Given the description of an element on the screen output the (x, y) to click on. 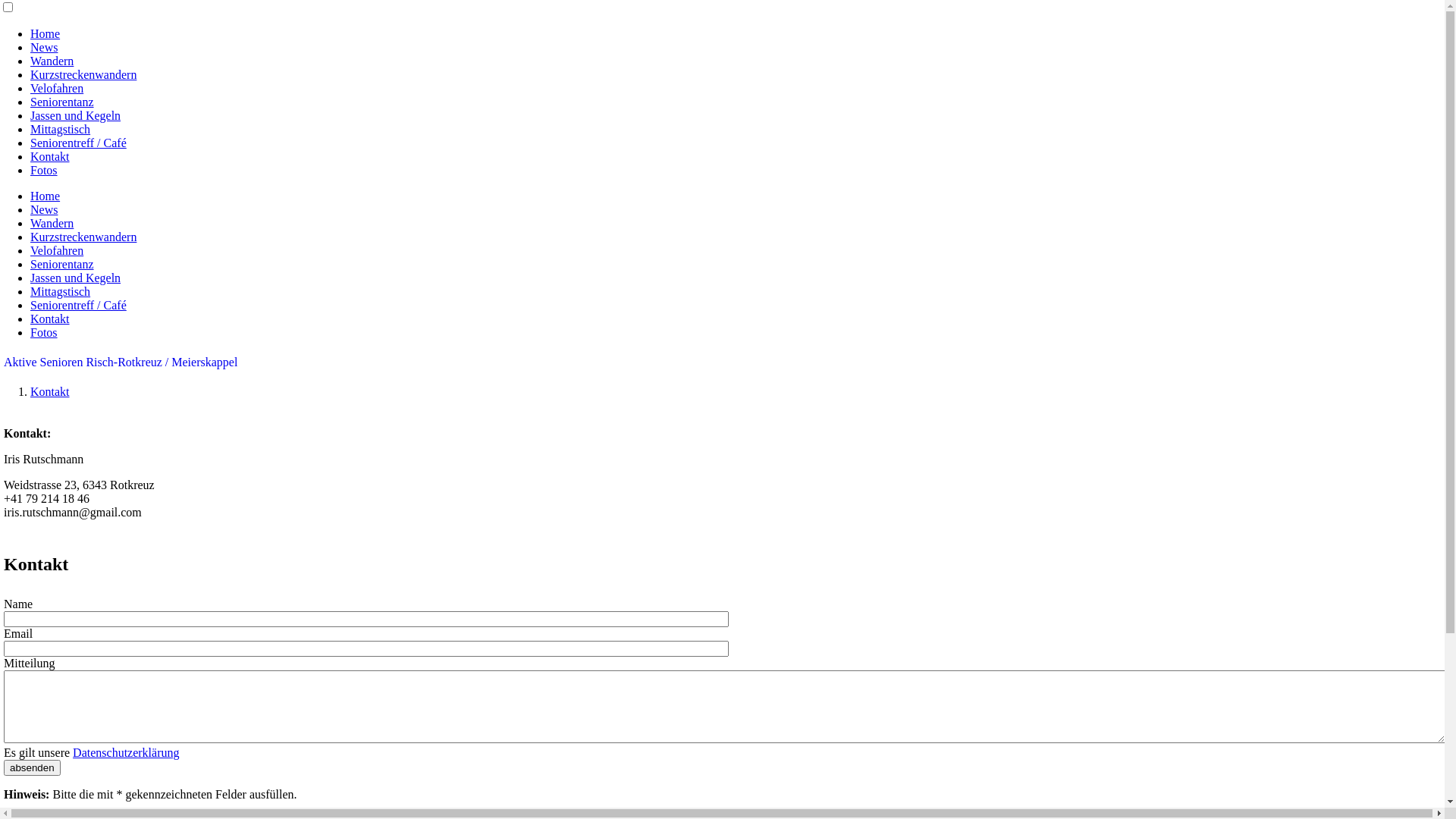
Mittagstisch Element type: text (60, 128)
Home Element type: text (44, 33)
Velofahren Element type: text (56, 87)
Seniorentanz Element type: text (62, 263)
News Element type: text (43, 209)
Fotos Element type: text (43, 169)
News Element type: text (43, 46)
Jassen und Kegeln Element type: text (75, 277)
Jassen und Kegeln Element type: text (75, 115)
Aktive Senioren Risch-Rotkreuz / Meierskappel Element type: text (120, 361)
Fotos Element type: text (43, 332)
Kontakt Element type: text (49, 318)
Velofahren Element type: text (56, 250)
Kurzstreckenwandern Element type: text (83, 236)
Home Element type: text (44, 195)
absenden Element type: text (31, 767)
Wandern Element type: text (51, 60)
Kontakt Element type: text (49, 156)
Wandern Element type: text (51, 222)
Seniorentanz Element type: text (62, 101)
Mittagstisch Element type: text (60, 291)
Kurzstreckenwandern Element type: text (83, 74)
Kontakt Element type: text (49, 391)
